Given the description of an element on the screen output the (x, y) to click on. 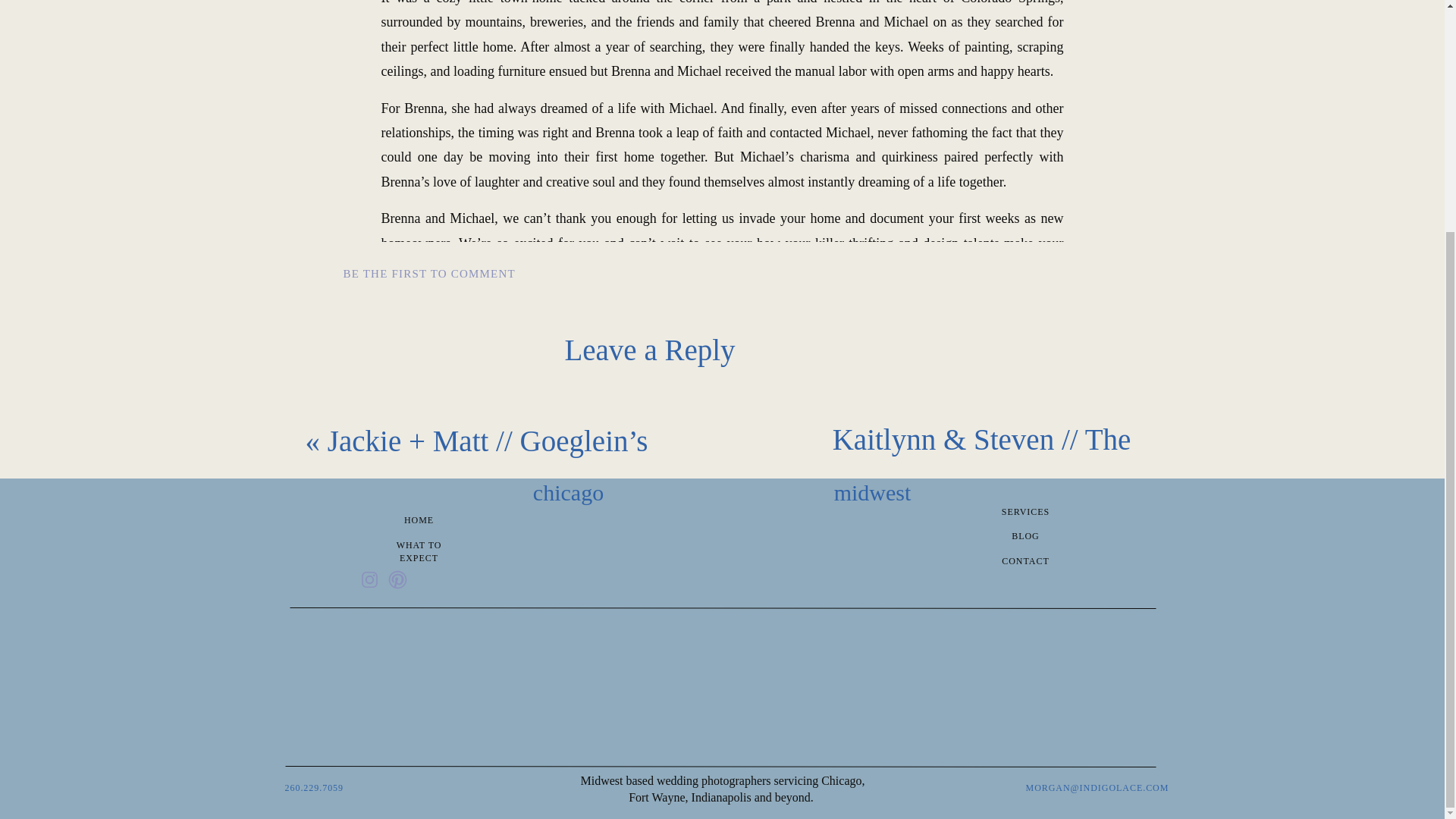
BE THE FIRST TO COMMENT (428, 273)
BLOG (1025, 537)
WHAT TO EXPECT (419, 546)
SERVICES (1025, 513)
HOME (419, 521)
260.229.7059 (336, 789)
CONTACT (1025, 562)
